Given the description of an element on the screen output the (x, y) to click on. 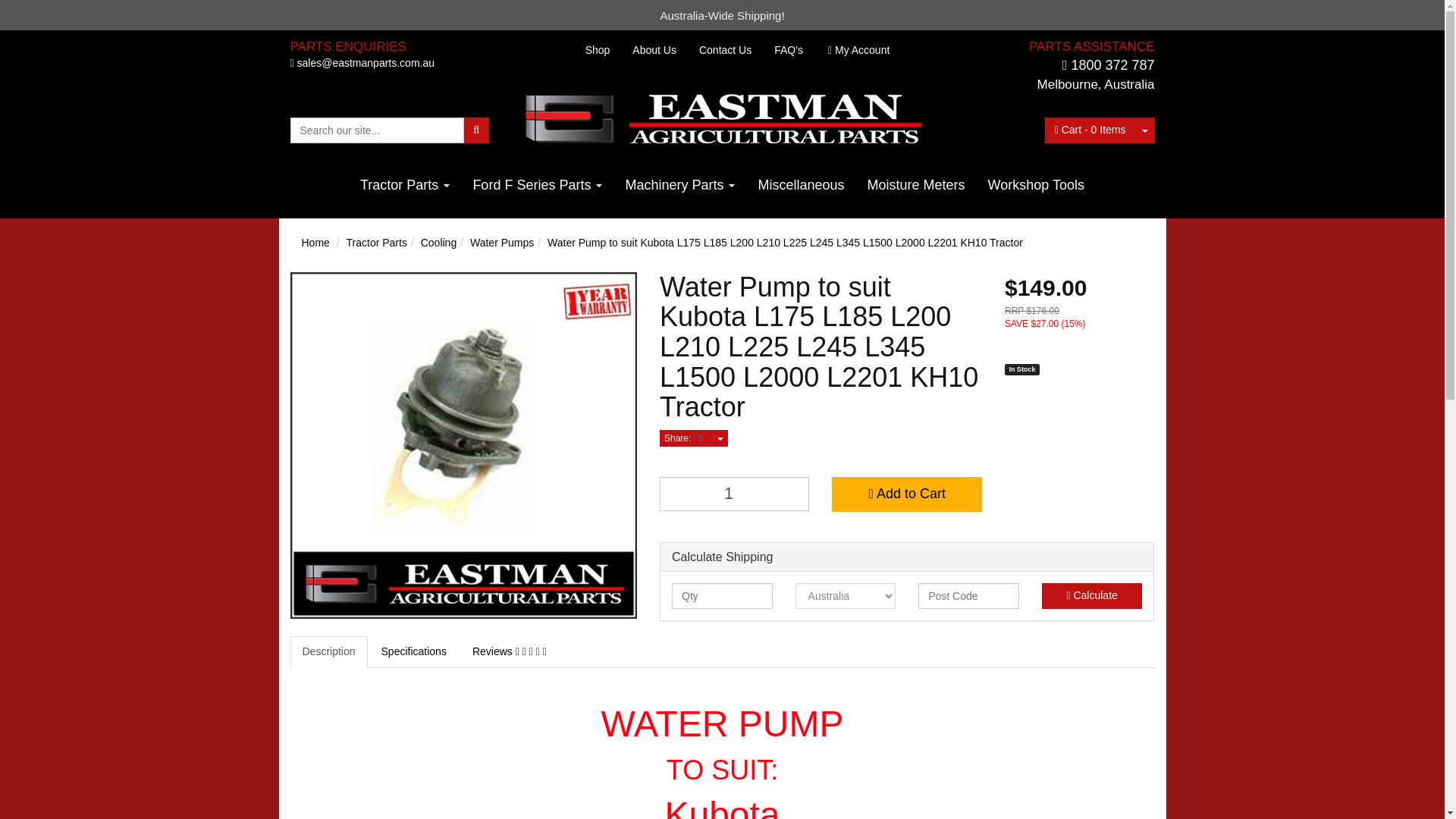
FAQ's (787, 49)
My Account (858, 49)
Add to Cart (906, 493)
Shop (597, 49)
Eastman Agricultural Parts (722, 117)
Calculate (1092, 596)
Search (476, 130)
1 (734, 493)
Contact Us (724, 49)
Tractor Parts (405, 184)
